Given the description of an element on the screen output the (x, y) to click on. 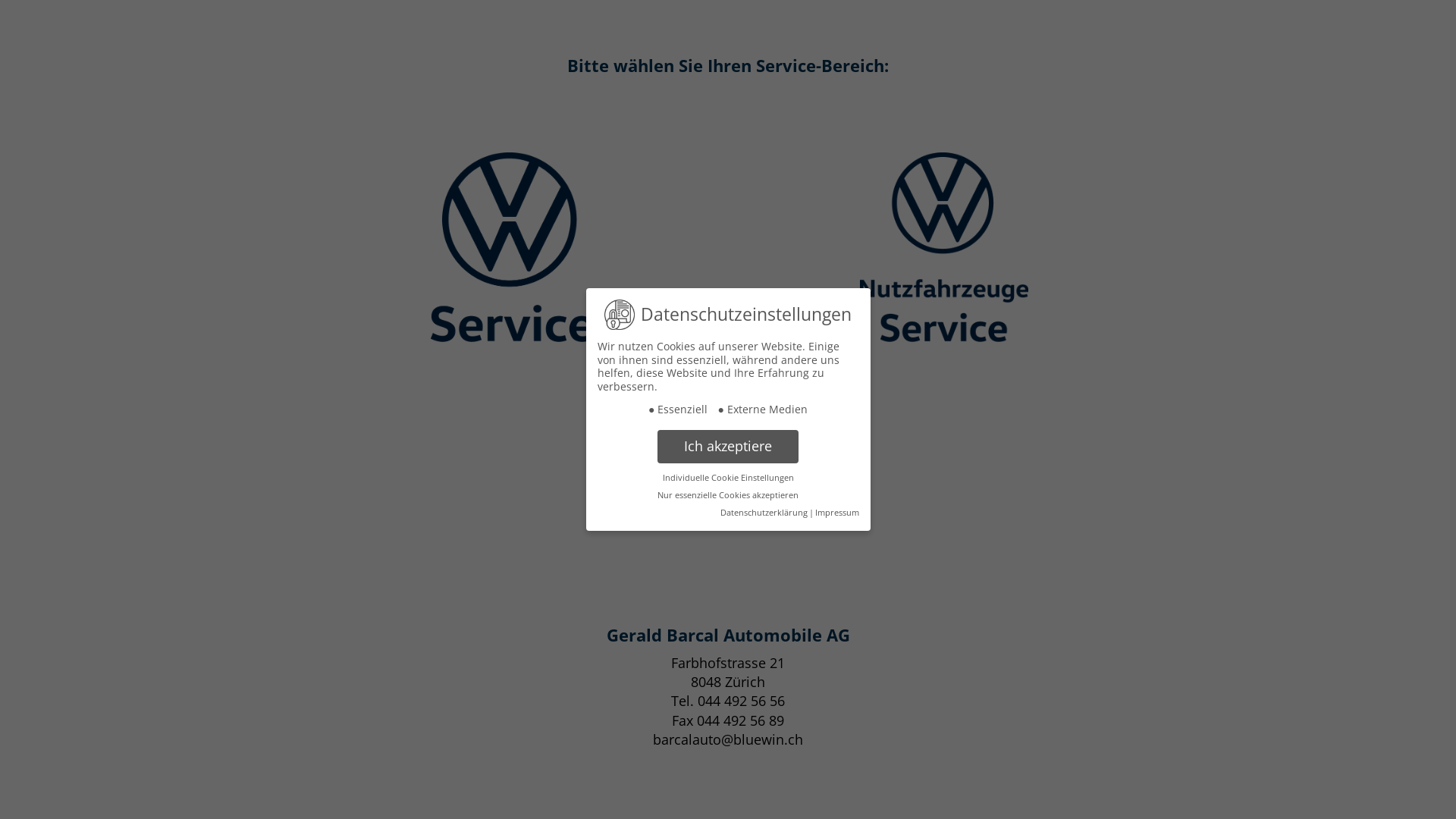
Ich akzeptiere Element type: text (727, 446)
Individuelle Cookie Einstellungen Element type: text (727, 477)
Impressum Element type: text (836, 512)
vw_service Element type: hover (511, 247)
vw_nutzfahrzeuge_service Element type: hover (943, 247)
Nur essenzielle Cookies akzeptieren Element type: text (727, 494)
barcalauto@bluewin.ch Element type: text (727, 739)
